Given the description of an element on the screen output the (x, y) to click on. 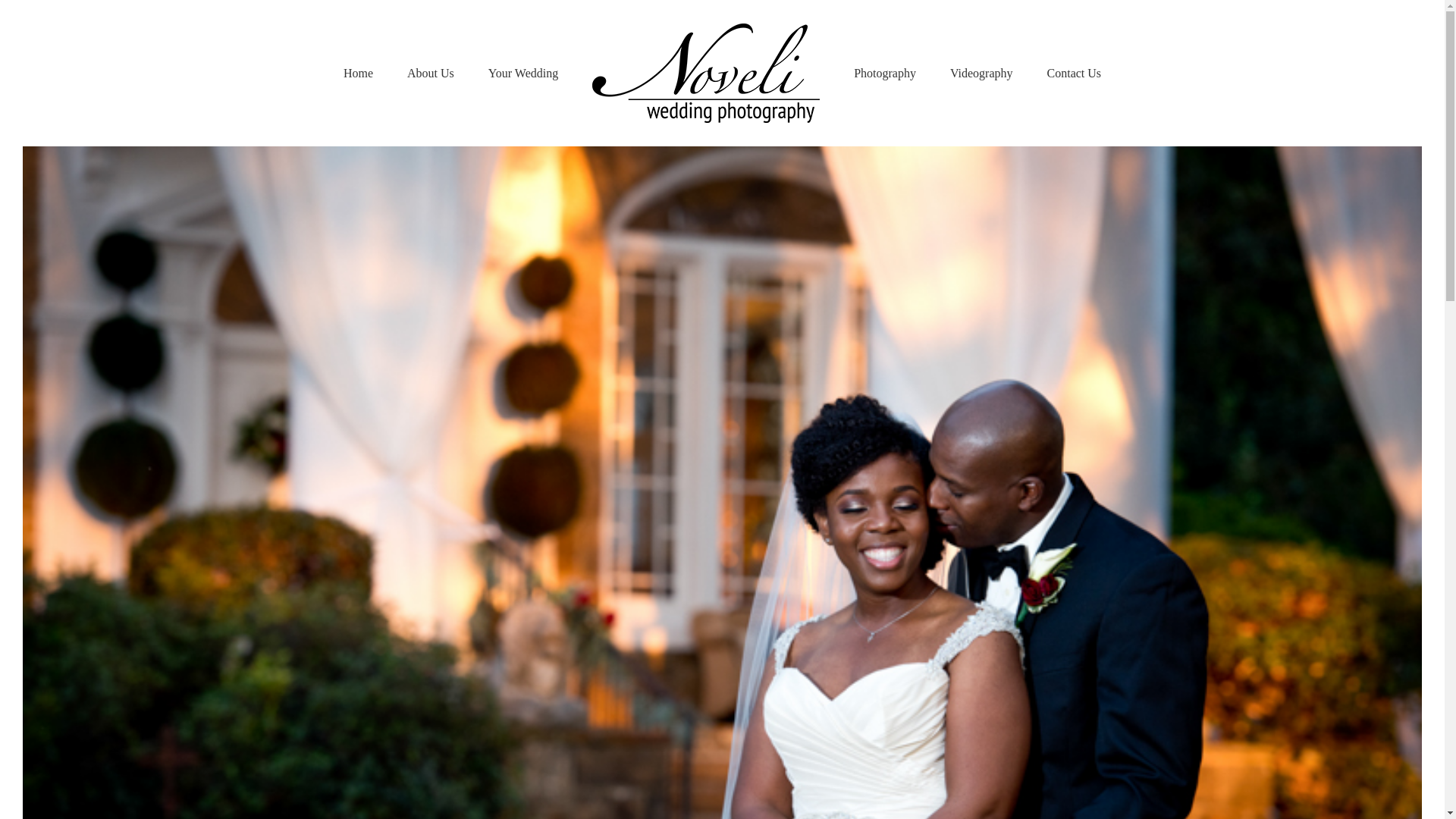
Your Wedding (522, 72)
Photography (884, 72)
Videography (981, 72)
